Given the description of an element on the screen output the (x, y) to click on. 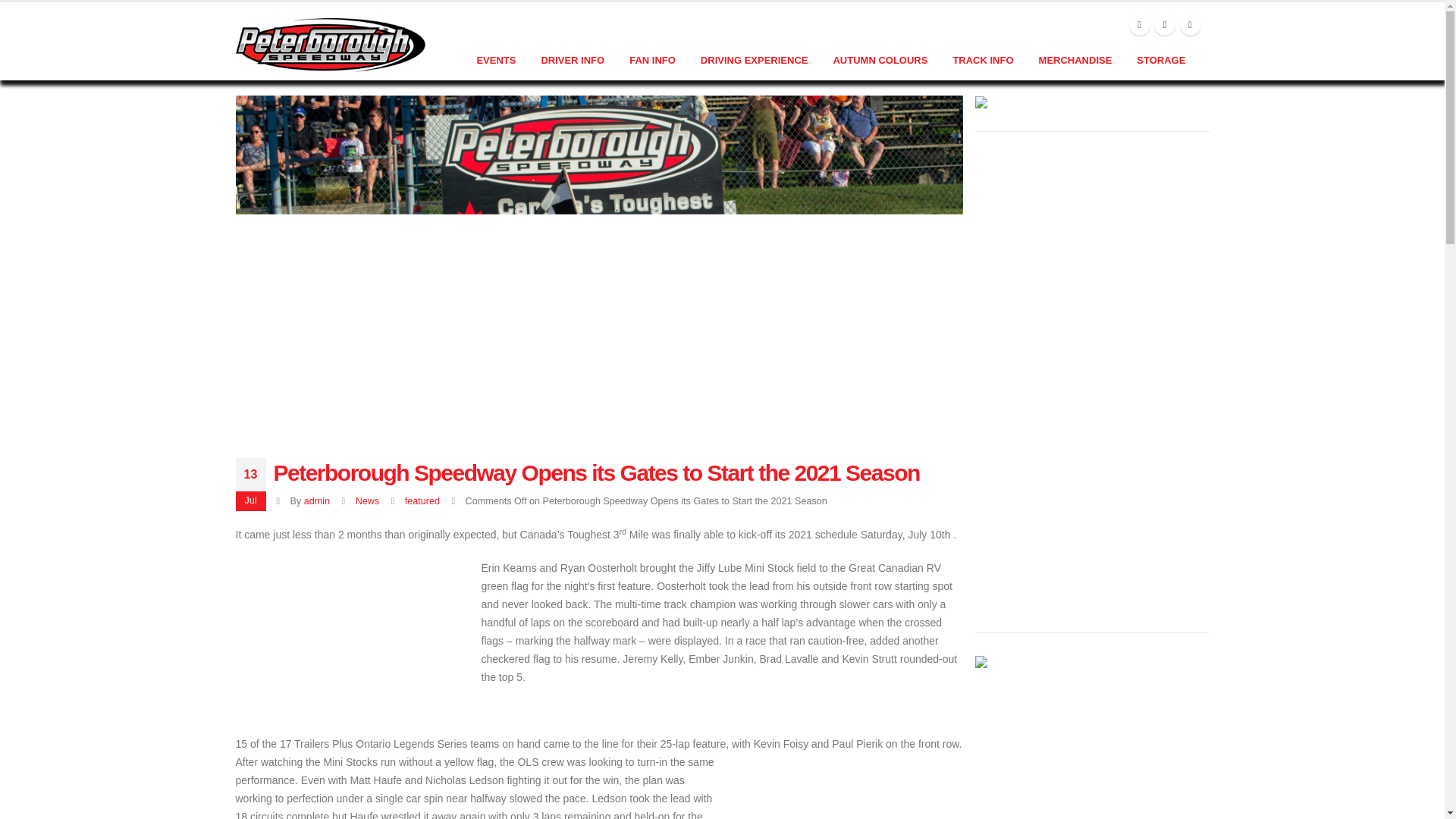
Youtube (1164, 25)
AUTUMN COLOURS (880, 60)
Facebook (1139, 25)
DRIVING EXPERIENCE (754, 60)
Peterborough Speedway -  (329, 44)
EVENTS (495, 60)
DRIVER INFO (571, 60)
Posts by admin (317, 501)
FAN INFO (652, 60)
Instagram (1190, 25)
